Given the description of an element on the screen output the (x, y) to click on. 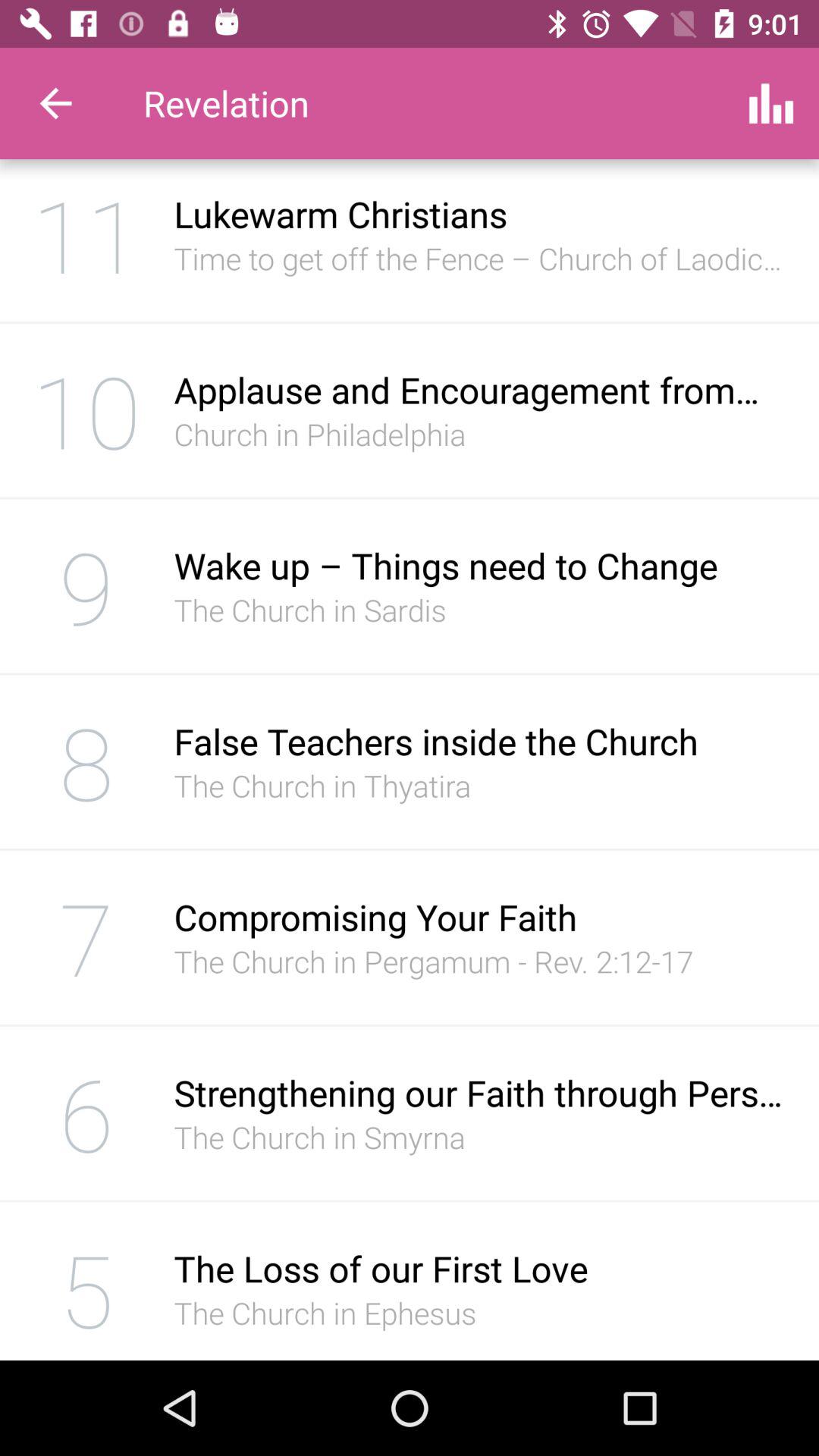
jump until the 9 (86, 585)
